Given the description of an element on the screen output the (x, y) to click on. 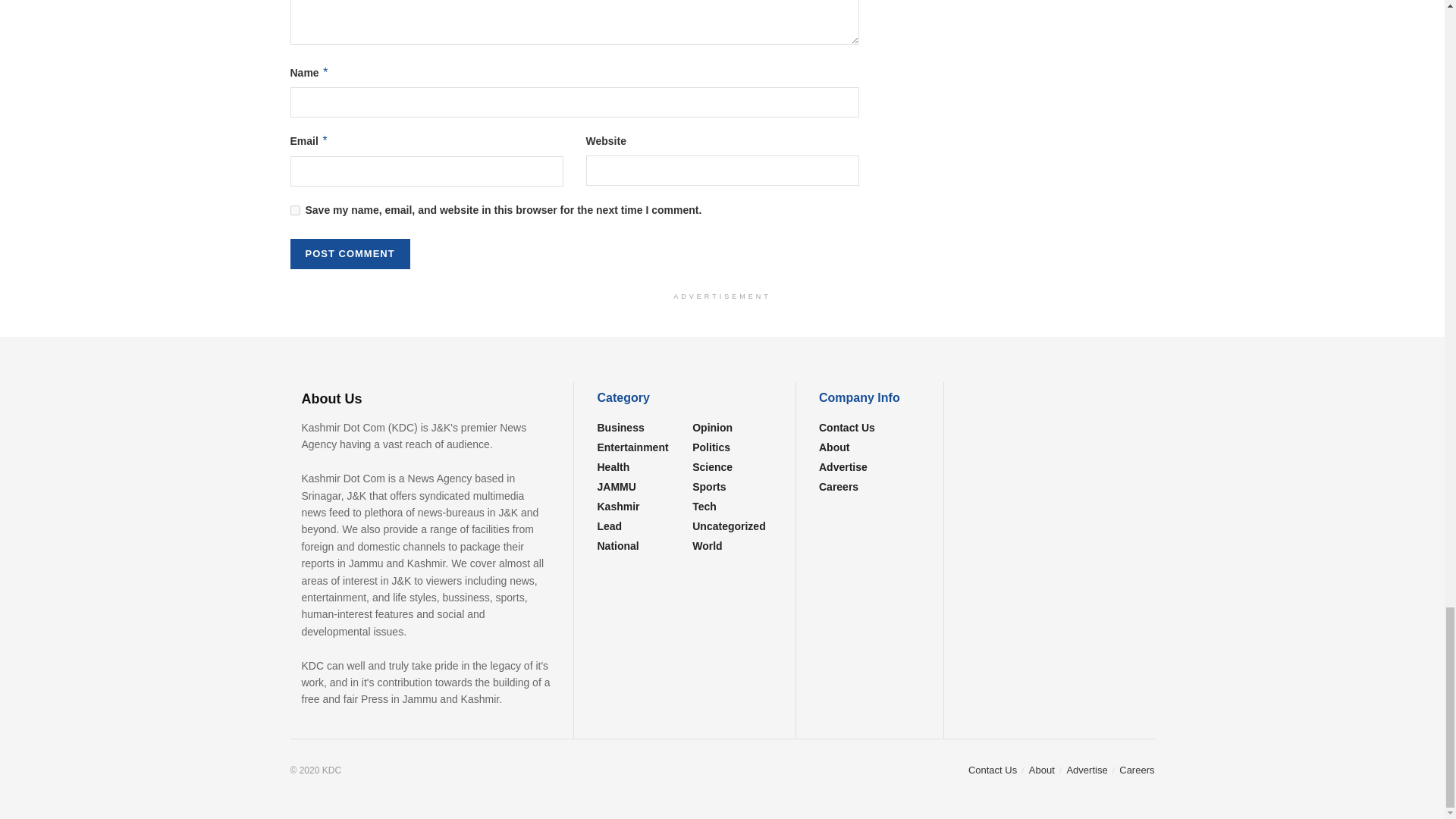
Post Comment (349, 254)
yes (294, 210)
